Given the description of an element on the screen output the (x, y) to click on. 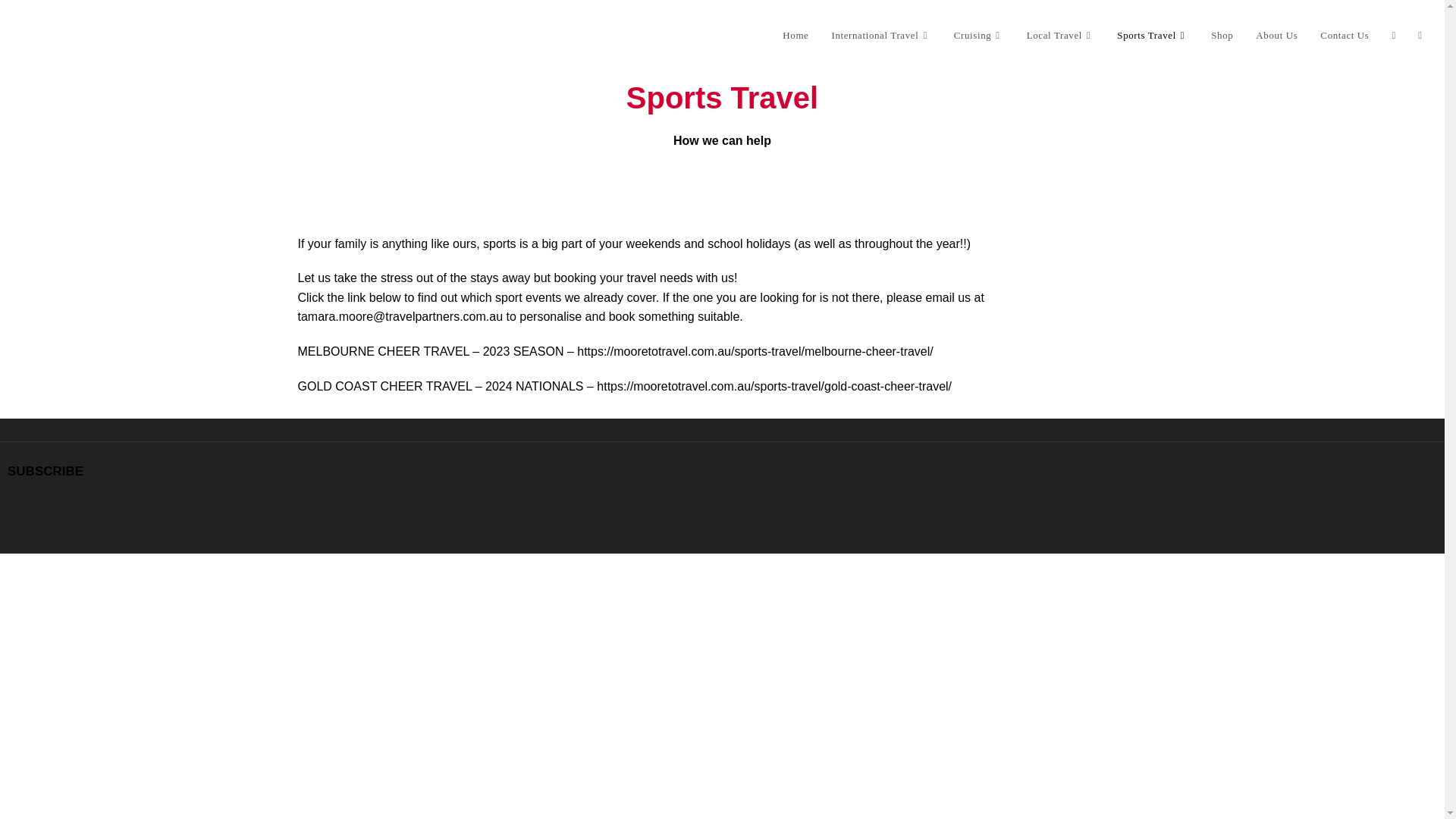
Contact Us (1344, 35)
About Us (1276, 35)
Cruising (978, 35)
Sports Travel (1152, 35)
Local Travel (1060, 35)
International Travel (880, 35)
